Given the description of an element on the screen output the (x, y) to click on. 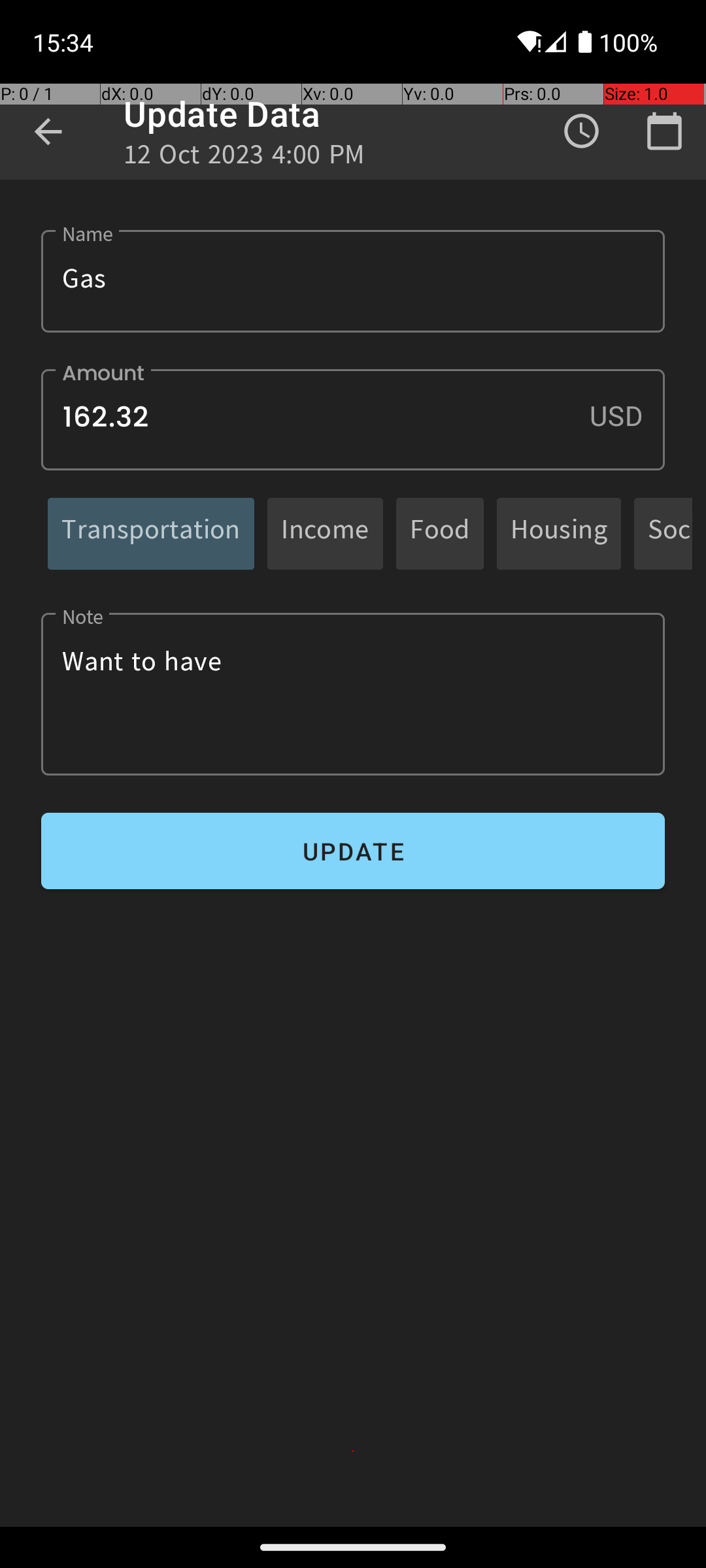
12 Oct 2023 4:00 PM Element type: android.widget.TextView (244, 157)
Gas Element type: android.widget.EditText (352, 280)
162.32 Element type: android.widget.EditText (352, 419)
Transportation Element type: android.widget.TextView (150, 533)
